Given the description of an element on the screen output the (x, y) to click on. 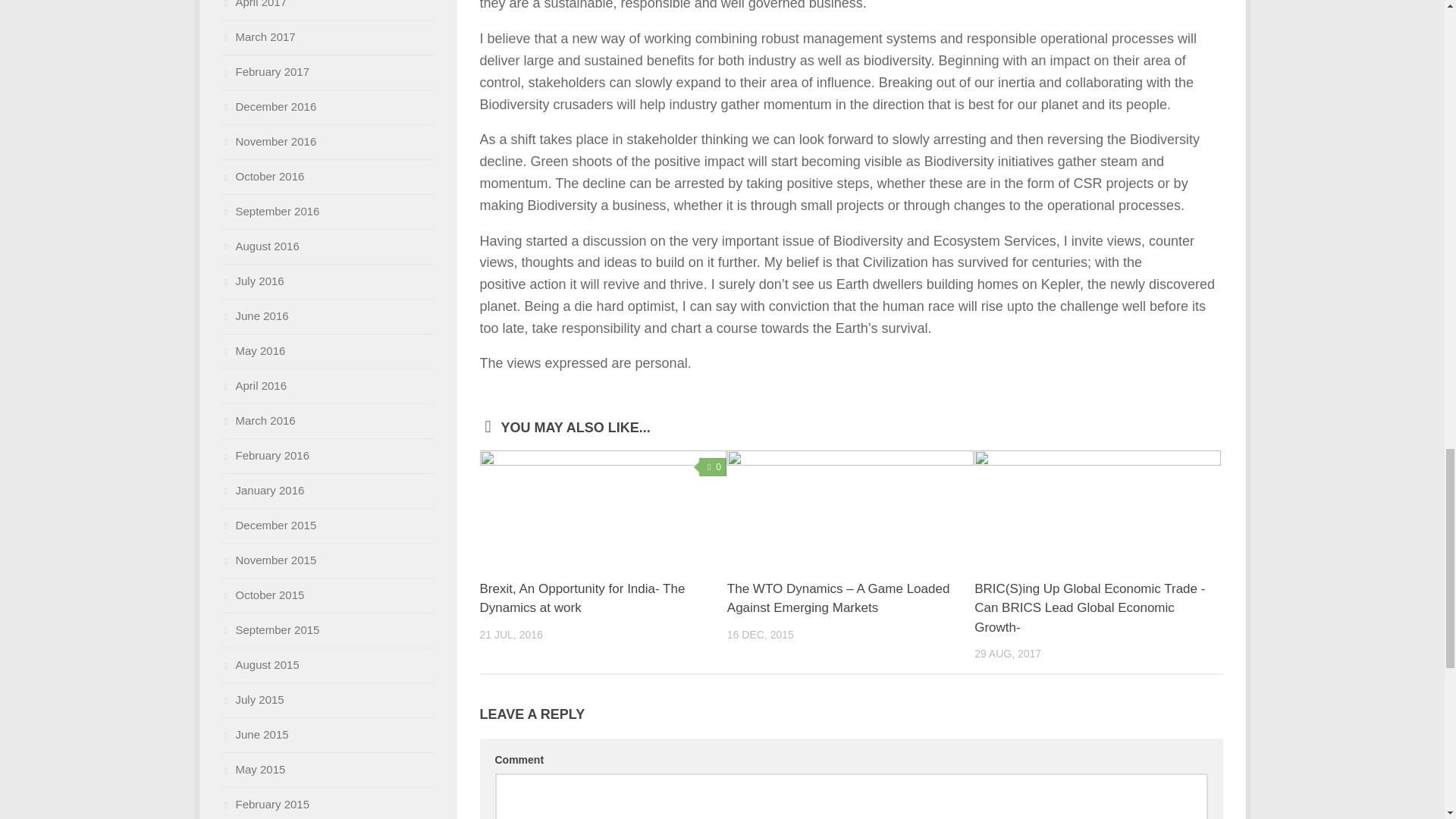
0 (712, 466)
Brexit, An Opportunity for India- The Dynamics at work (602, 508)
Brexit, An Opportunity for India- The Dynamics at work (581, 598)
Brexit, An Opportunity for India- The Dynamics at work (581, 598)
